Given the description of an element on the screen output the (x, y) to click on. 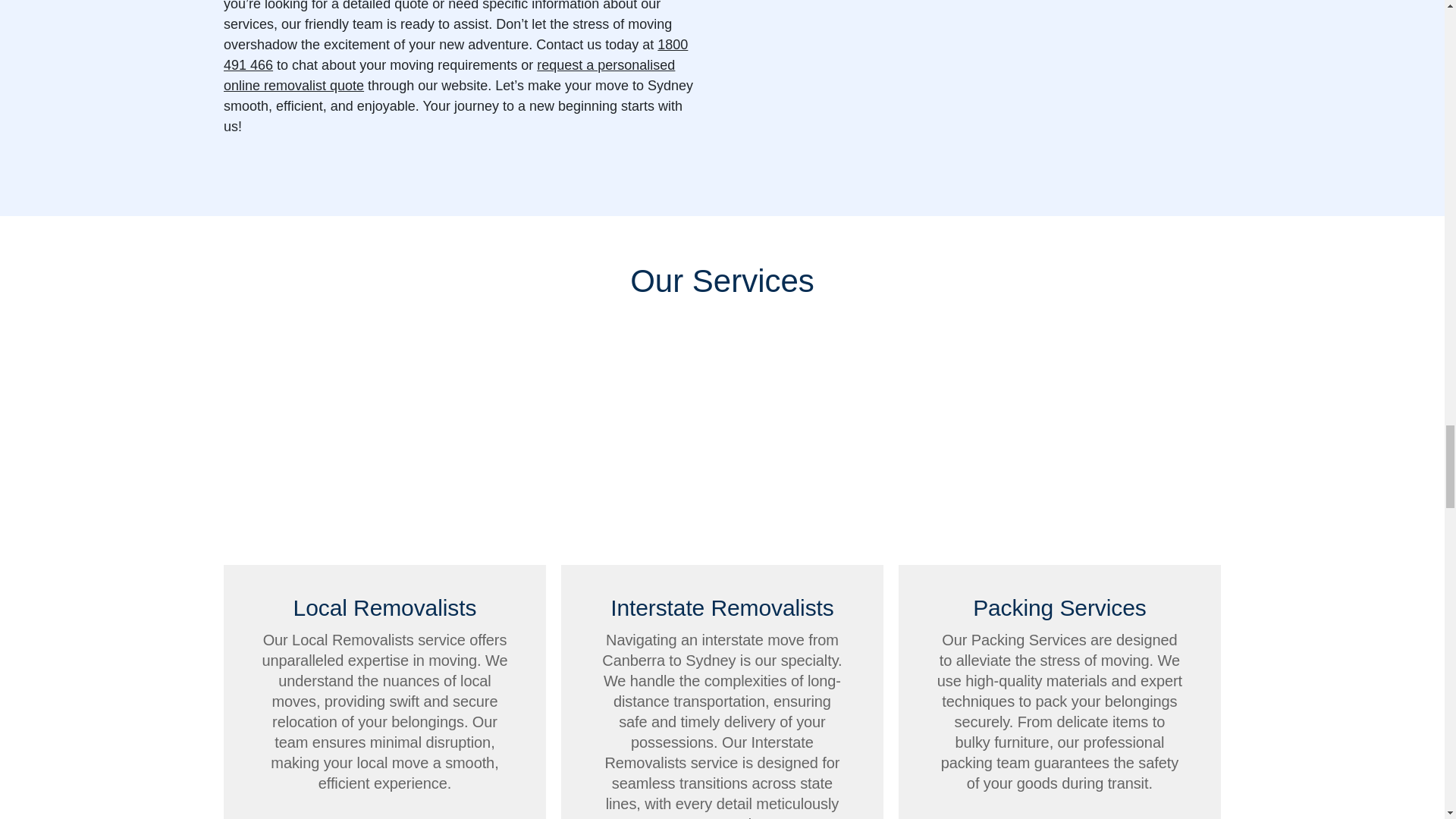
Local Removalists (385, 451)
Interstate Removalists (721, 451)
Packing Services (1059, 451)
